Given the description of an element on the screen output the (x, y) to click on. 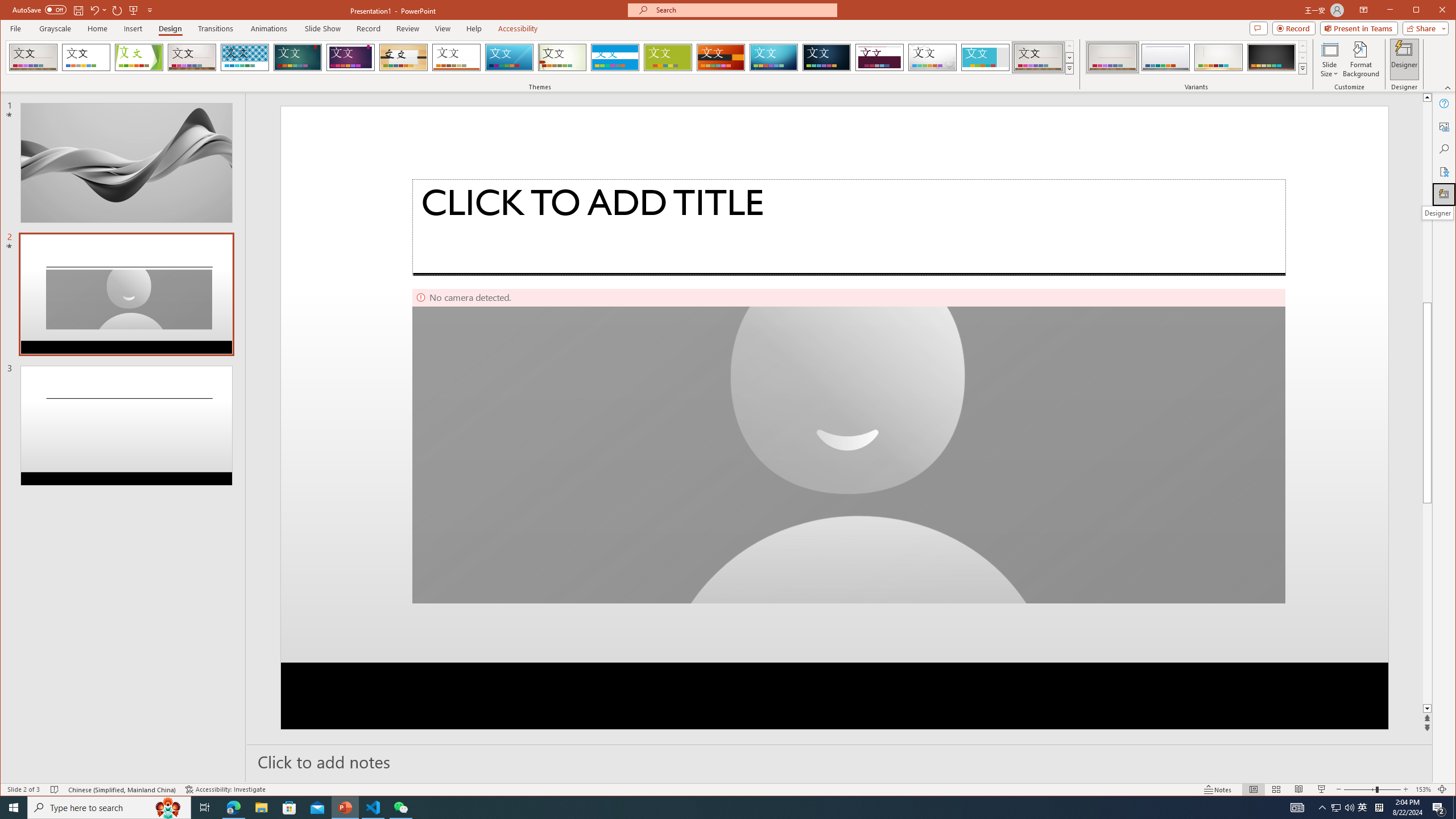
Basis (668, 57)
WeChat - 1 running window (400, 807)
Integral (244, 57)
Slide Notes (839, 761)
Gallery (1037, 57)
Themes (1069, 68)
